Given the description of an element on the screen output the (x, y) to click on. 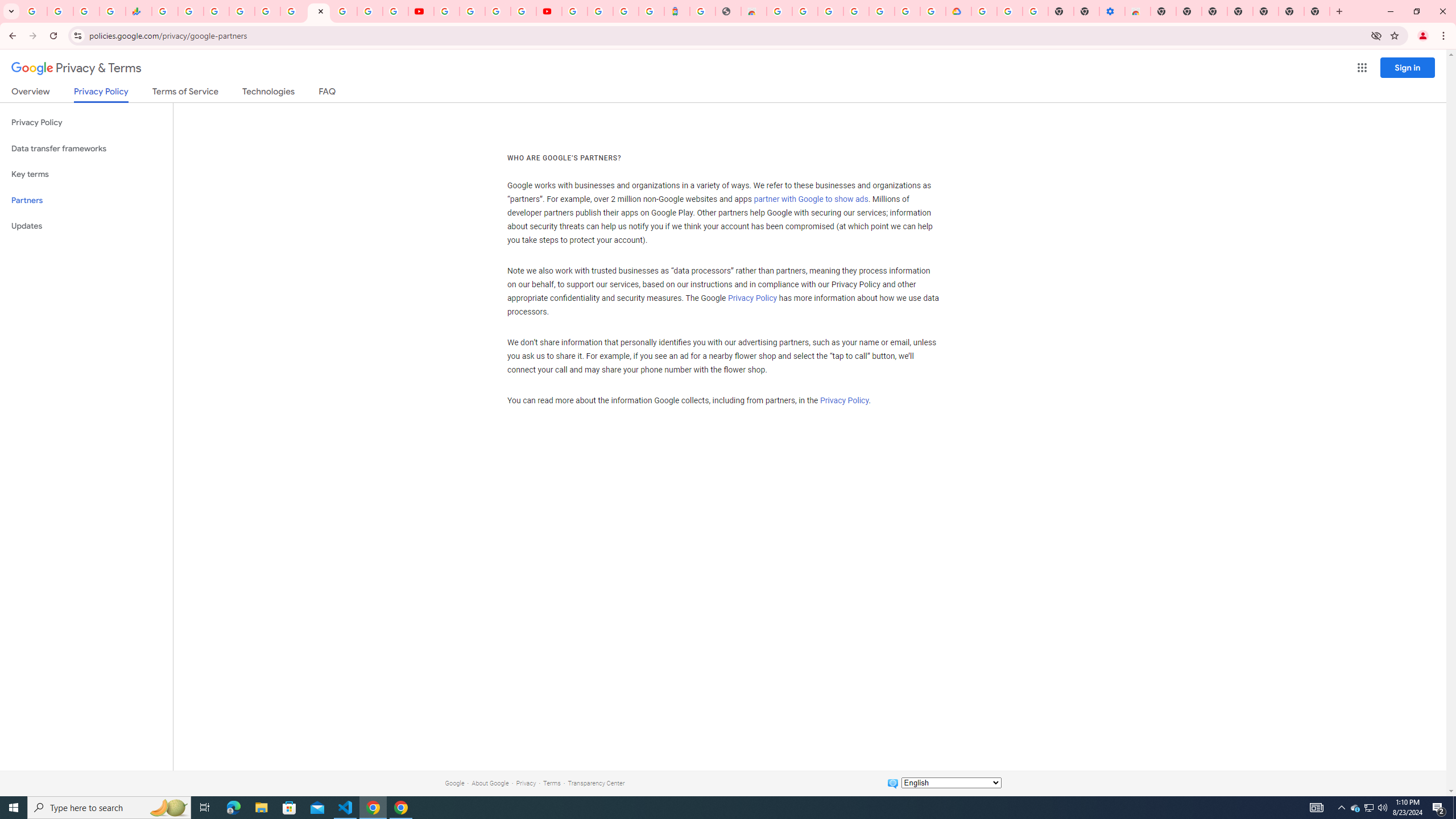
Transparency Center (595, 783)
Change language: (951, 782)
partner with Google to show ads (810, 199)
New Tab (1162, 11)
